Given the description of an element on the screen output the (x, y) to click on. 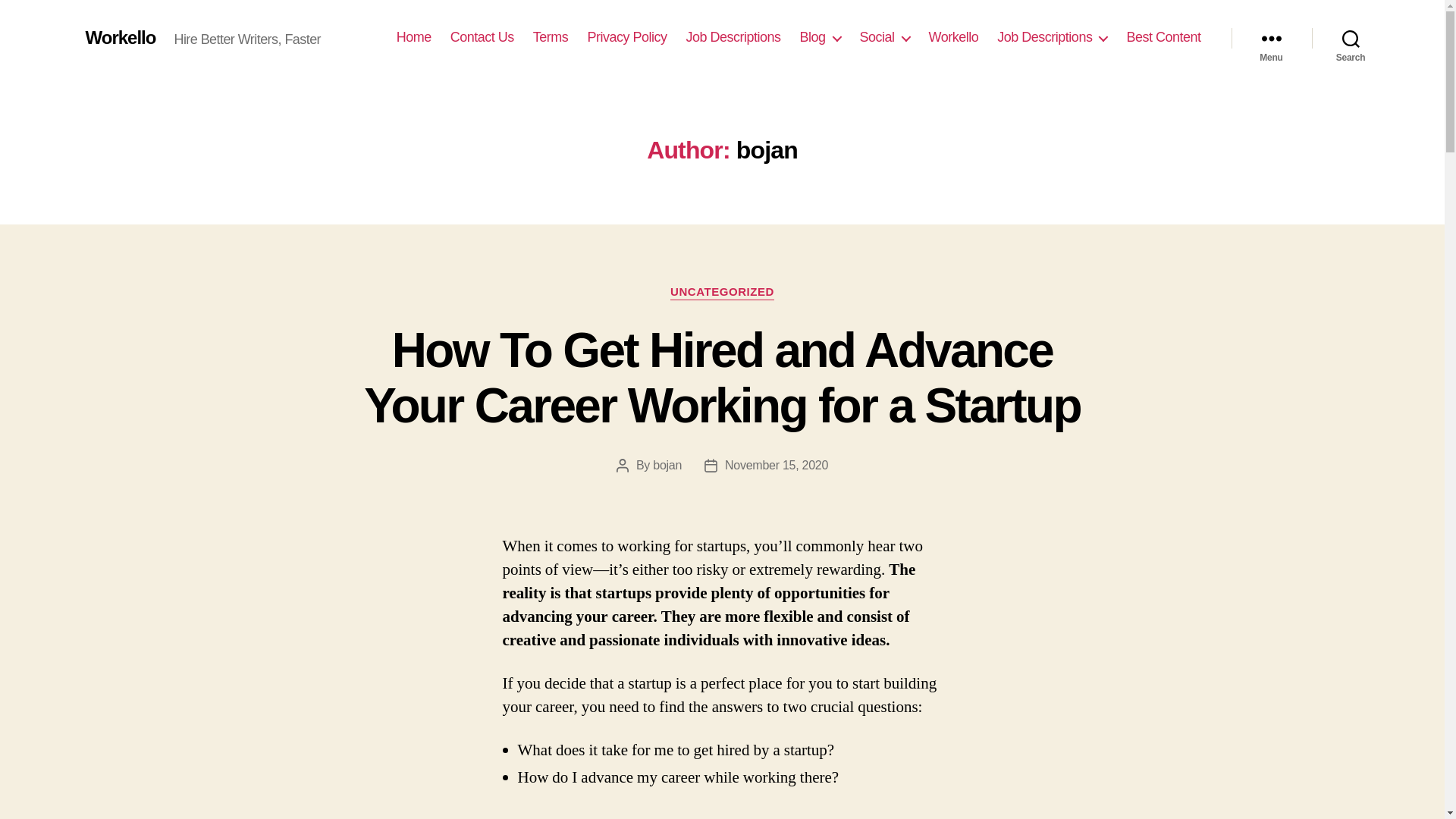
Job Descriptions (732, 37)
Contact Us (481, 37)
Job Descriptions (1051, 37)
Best Content (1162, 37)
Menu (1271, 37)
Home (413, 37)
Privacy Policy (626, 37)
Terms (550, 37)
Blog (820, 37)
Workello (119, 37)
